Given the description of an element on the screen output the (x, y) to click on. 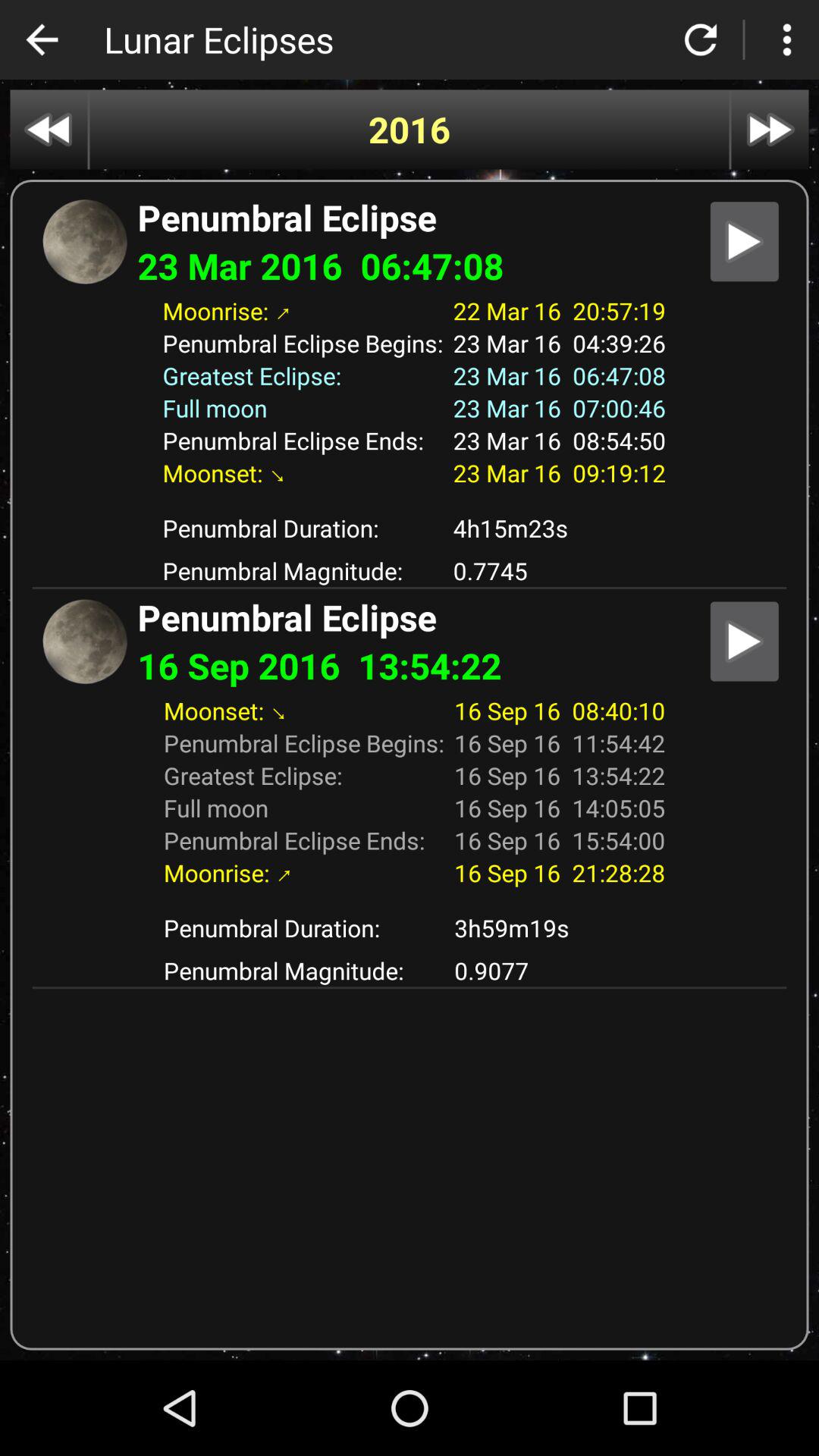
view details (744, 241)
